Given the description of an element on the screen output the (x, y) to click on. 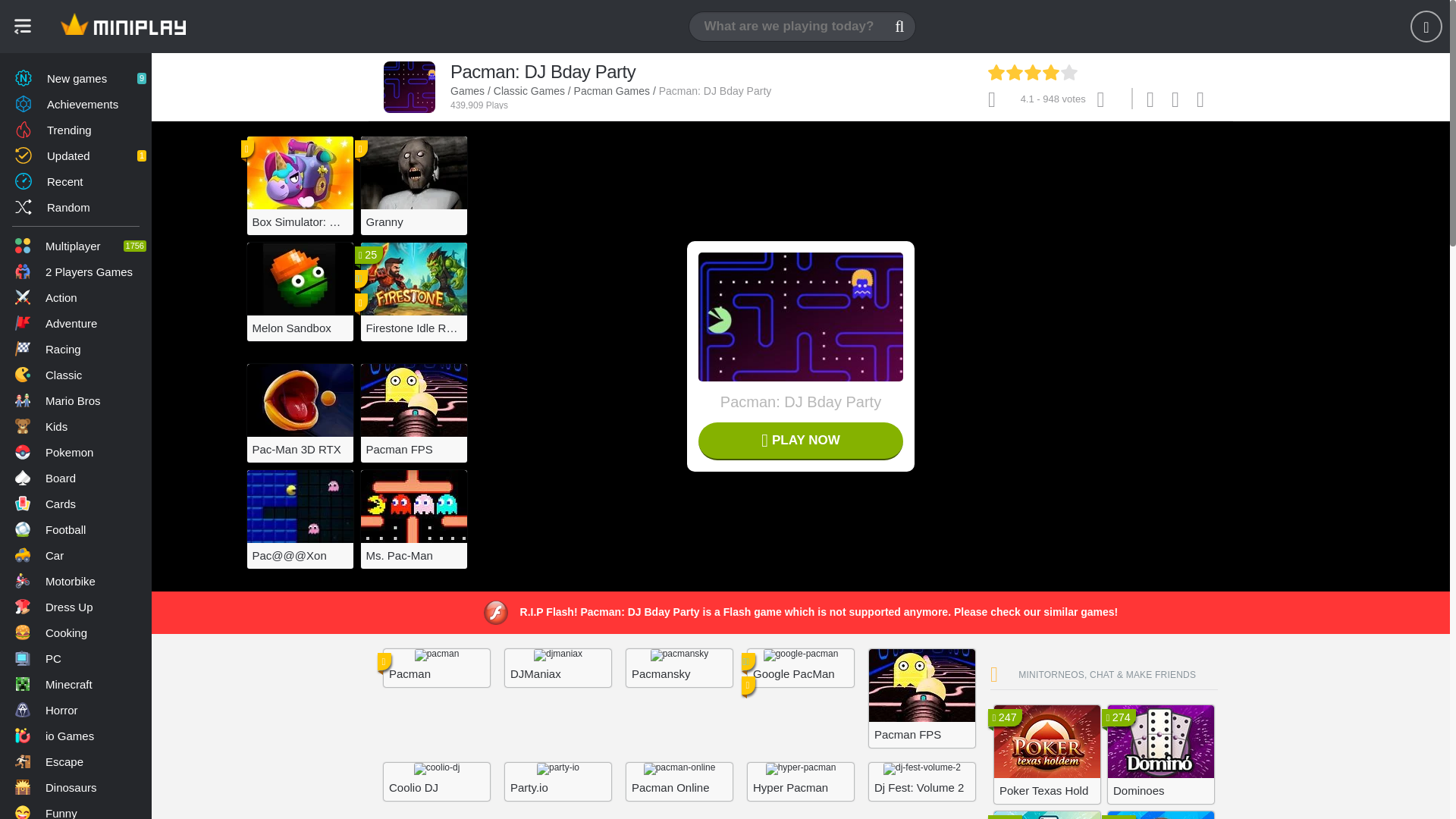
New games (75, 77)
Cards (75, 503)
Kids Games (75, 425)
Trending (75, 129)
Adventure (75, 322)
2 Players Games (75, 271)
Board Games (75, 477)
Dinosaurs (75, 786)
Pokemon (75, 451)
io Games (75, 735)
